Given the description of an element on the screen output the (x, y) to click on. 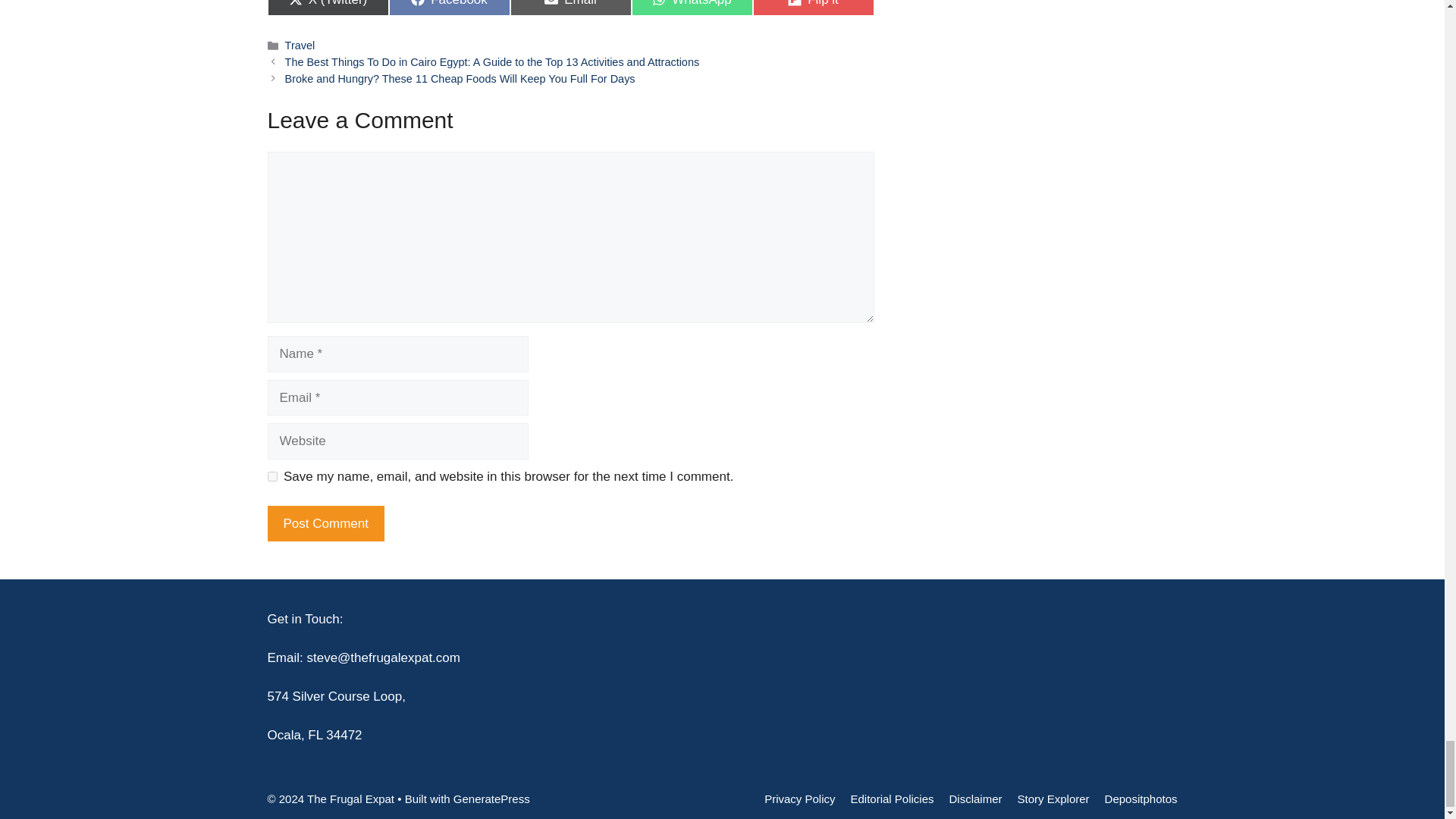
Post Comment (325, 524)
Post Comment (569, 7)
Travel (325, 524)
yes (691, 7)
